Given the description of an element on the screen output the (x, y) to click on. 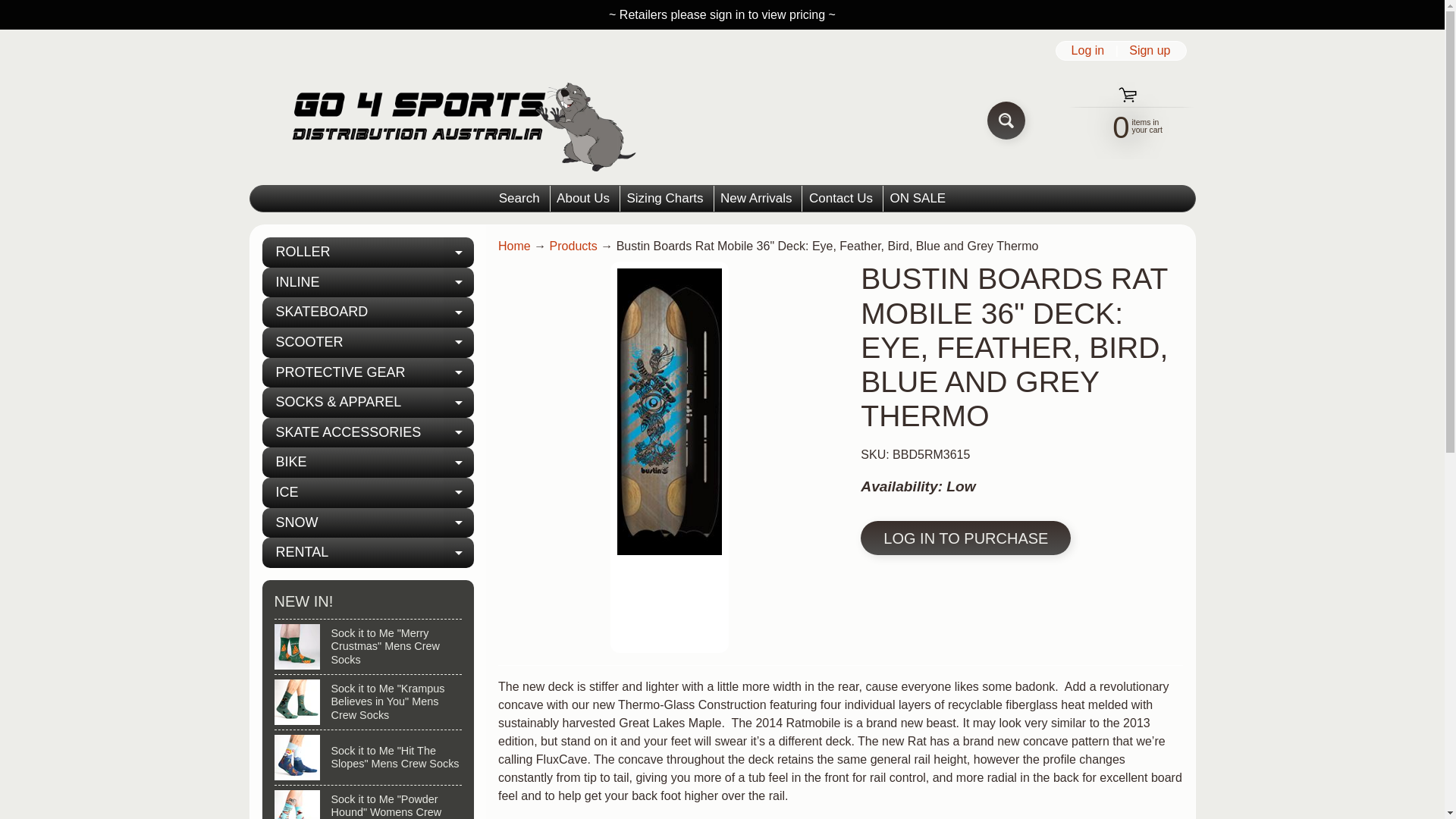
Sock it to Me "Hit The Slopes" Mens Crew Socks (369, 757)
New Arrivals (755, 198)
Sign up (368, 252)
ON SALE (1149, 50)
SKIP TO CONTENT (917, 198)
Sock it to Me "Merry Crustmas" Mens Crew Socks (22, 8)
Search (369, 646)
Sizing Charts (1006, 120)
EXPAND CHILD MENU (665, 198)
Search (459, 252)
Log in (519, 198)
Contact Us (1088, 50)
About Us (840, 198)
SEARCH (582, 198)
